Given the description of an element on the screen output the (x, y) to click on. 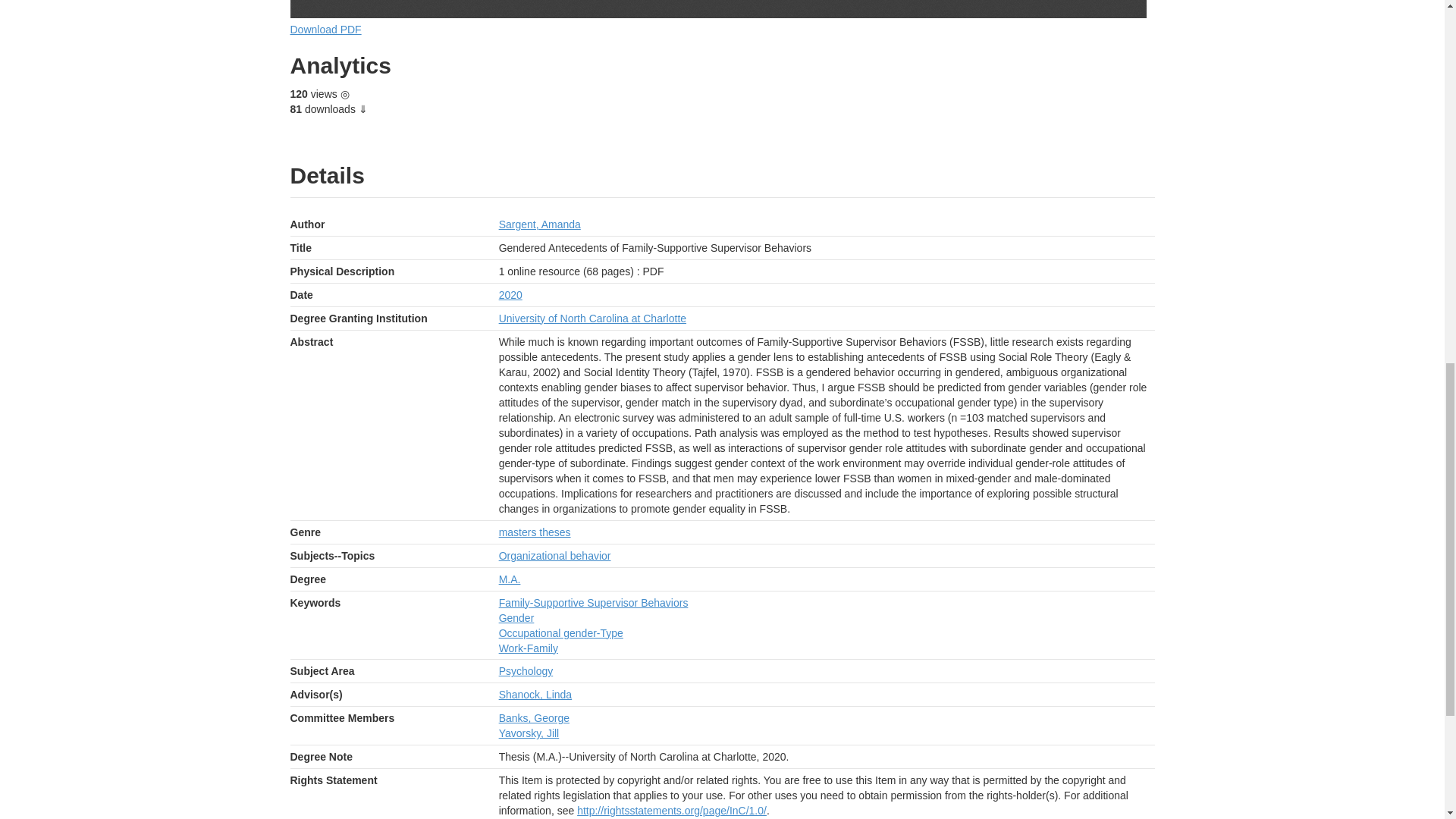
Sargent, Amanda (539, 224)
Psychology (526, 671)
Shanock, Linda (535, 694)
Banks, George (534, 717)
University of North Carolina at Charlotte (592, 318)
Gender (516, 617)
M.A. (510, 579)
Work-Family (528, 647)
masters theses (534, 532)
Occupational gender-Type (561, 633)
Family-Supportive Supervisor Behaviors (593, 603)
2020 (510, 295)
Yavorsky, Jill (529, 733)
Organizational behavior (555, 555)
Download PDF (325, 29)
